Given the description of an element on the screen output the (x, y) to click on. 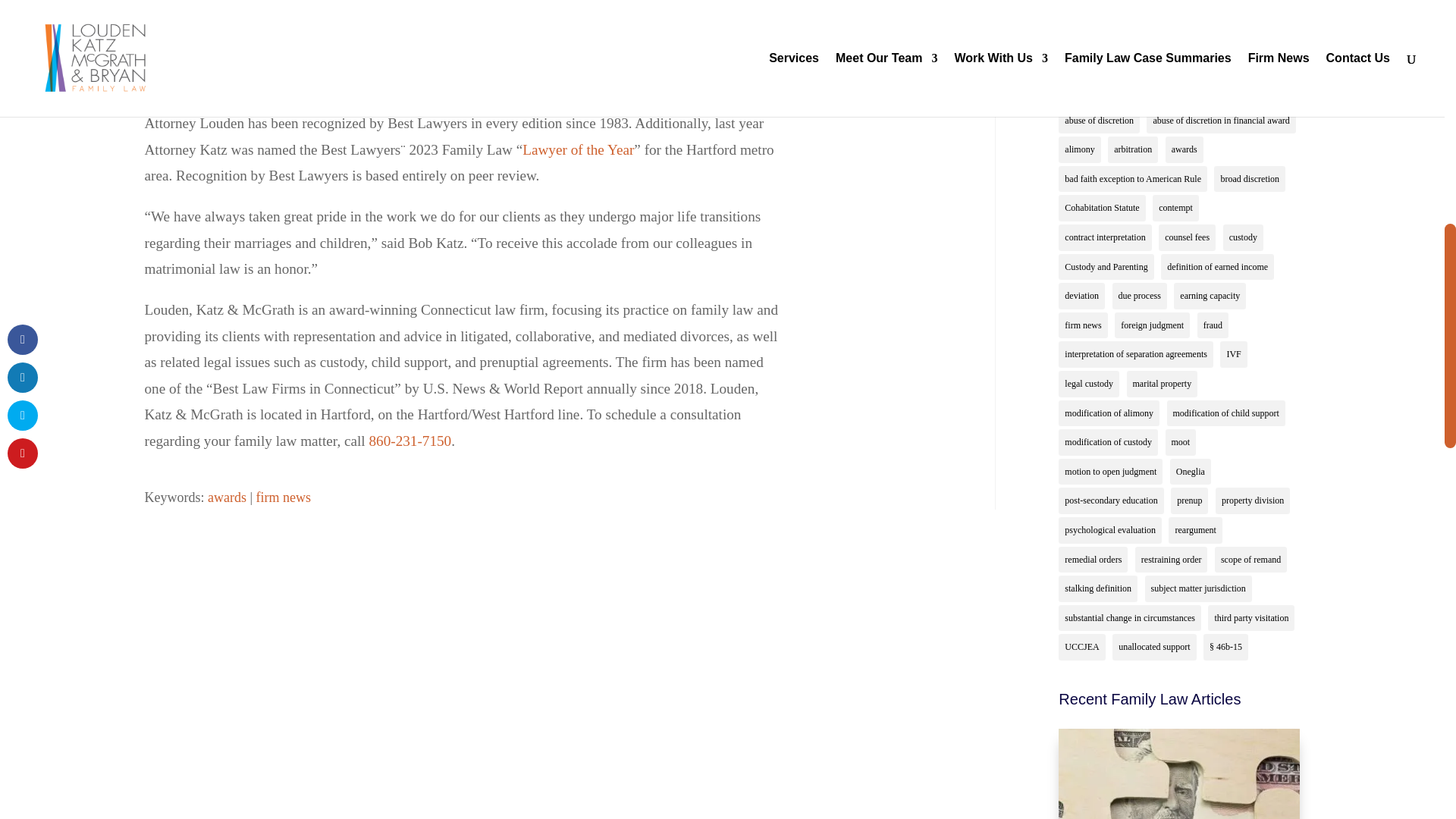
Lawyer of the Year (577, 149)
Search (1266, 13)
860-231-7150 (409, 440)
have been recognized (550, 30)
Search (1266, 13)
firm news (283, 497)
abuse of discretion (1099, 120)
Search (1266, 13)
awards (227, 497)
